Given the description of an element on the screen output the (x, y) to click on. 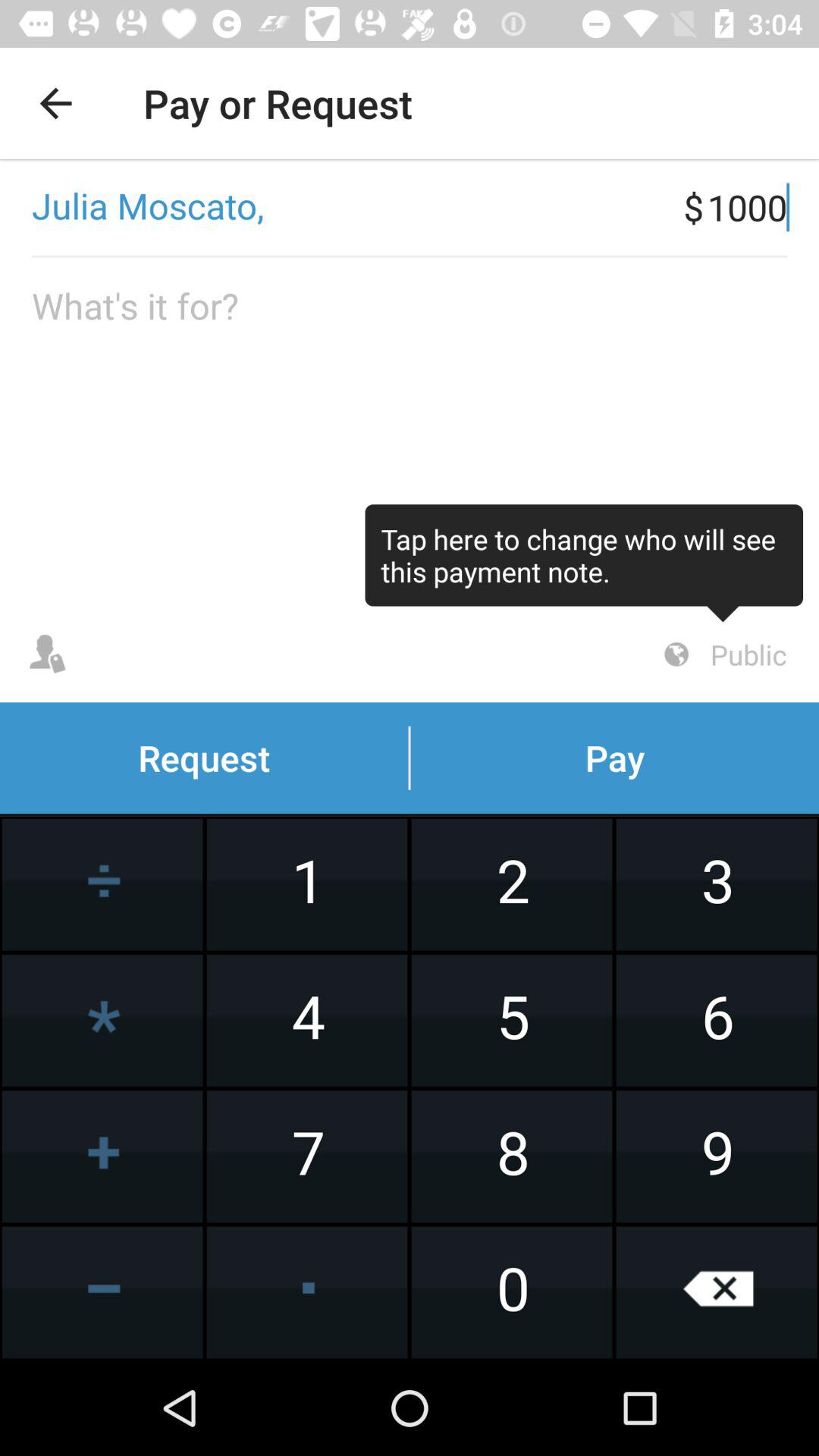
click item above ,  item (55, 103)
